Given the description of an element on the screen output the (x, y) to click on. 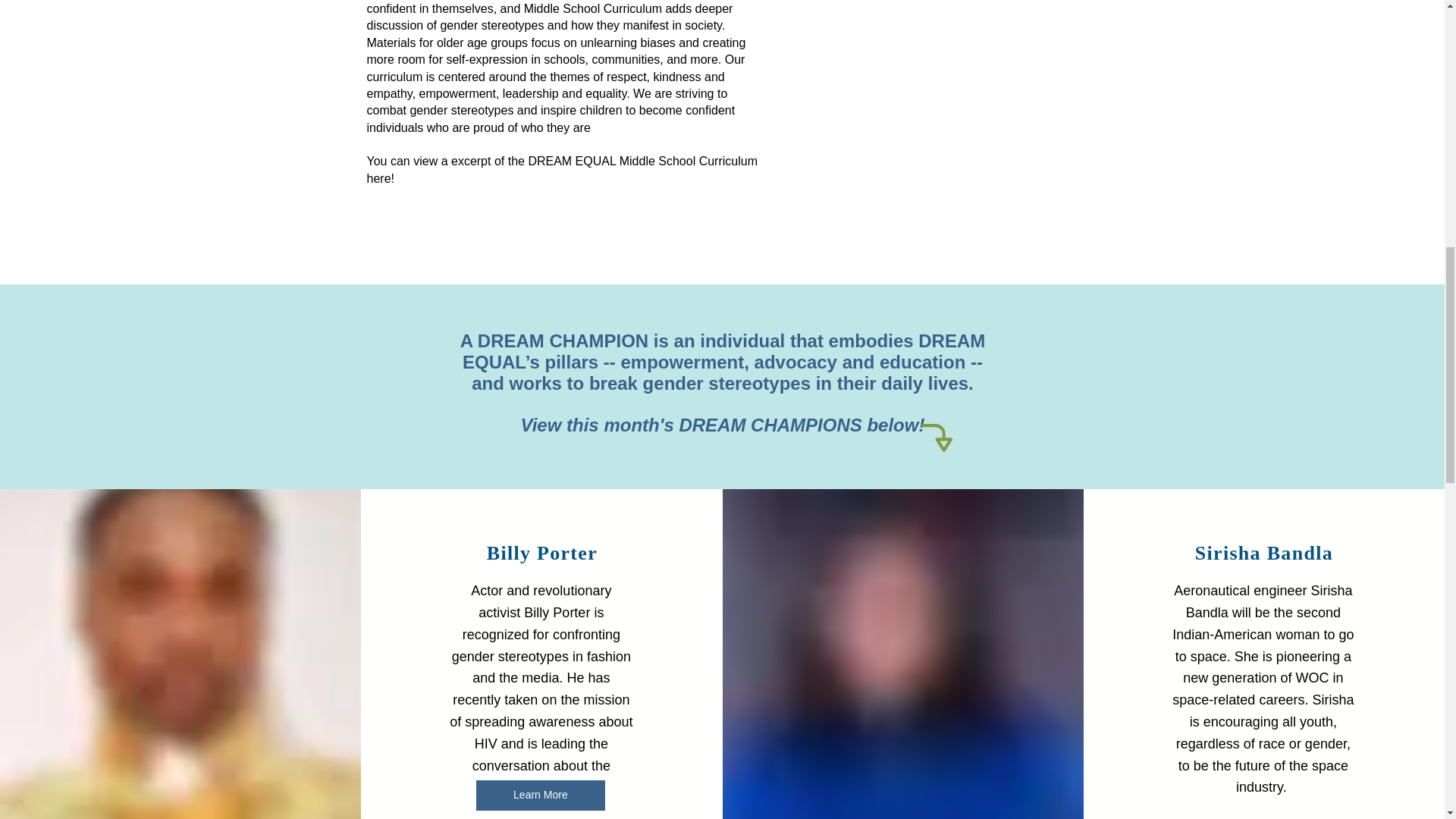
Learn More (540, 795)
